Given the description of an element on the screen output the (x, y) to click on. 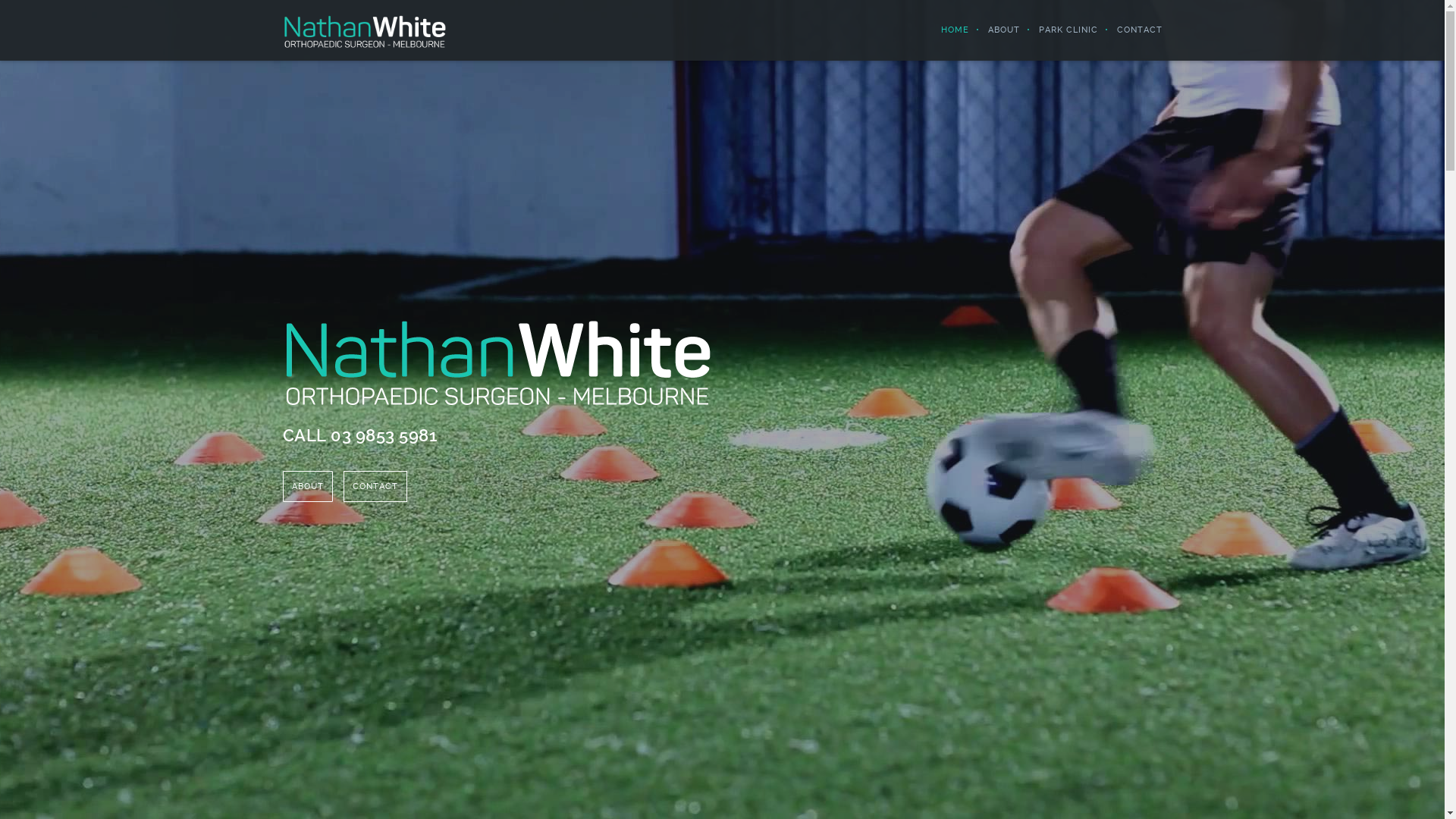
CALL 03 9853 5981 Element type: text (359, 435)
CONTACT Element type: text (375, 486)
CONTACT Element type: text (1130, 30)
ABOUT Element type: text (994, 30)
Nathan White Element type: hover (363, 30)
PARK CLINIC Element type: text (1058, 30)
ABOUT Element type: text (307, 486)
HOME Element type: text (945, 30)
